Given the description of an element on the screen output the (x, y) to click on. 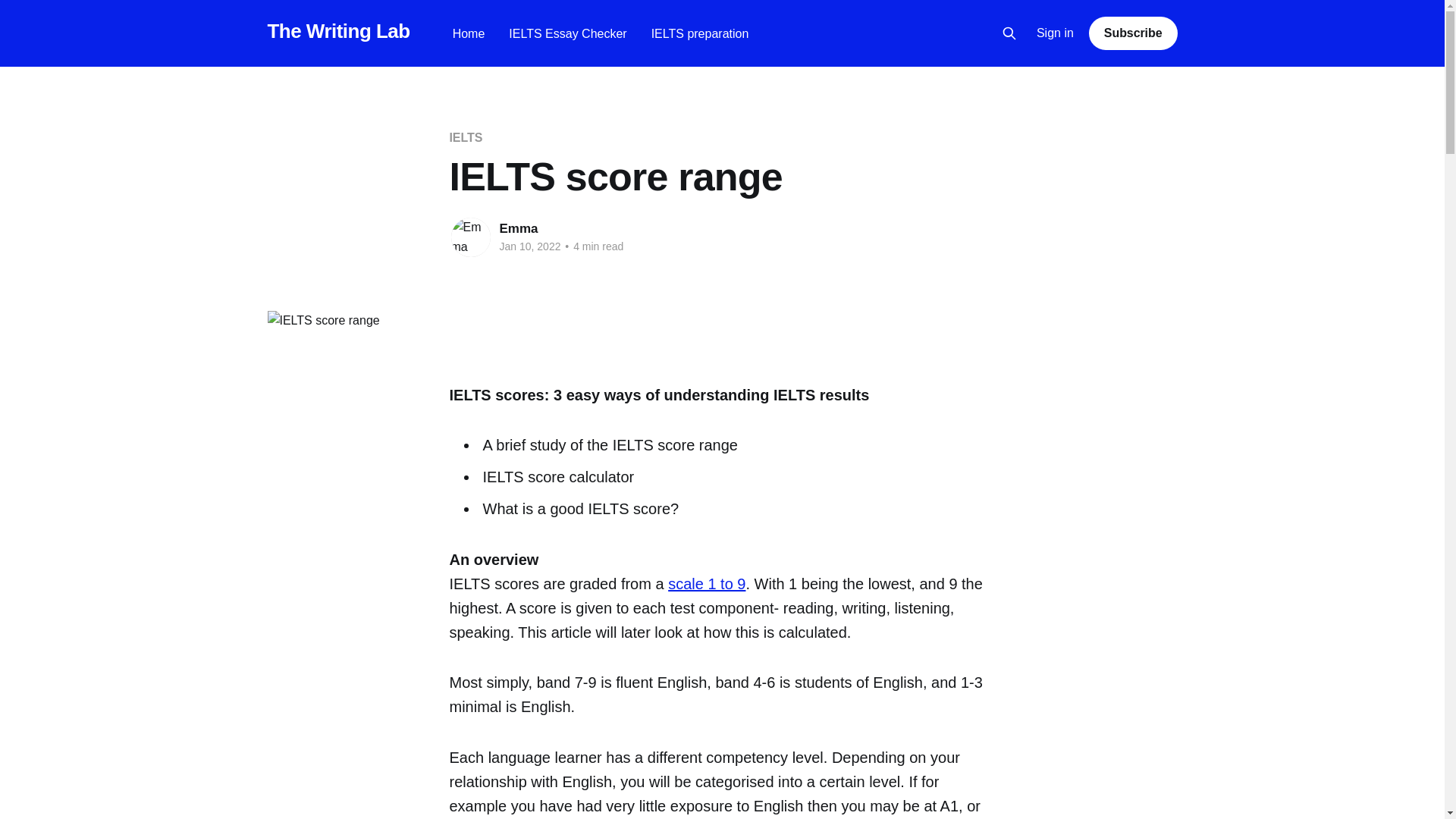
Emma (518, 228)
IELTS (464, 137)
The Writing Lab (337, 31)
Home (468, 33)
IELTS preparation (699, 33)
scale 1 to 9 (706, 583)
Subscribe (1133, 32)
Sign in (1055, 33)
IELTS Essay Checker (567, 33)
